Given the description of an element on the screen output the (x, y) to click on. 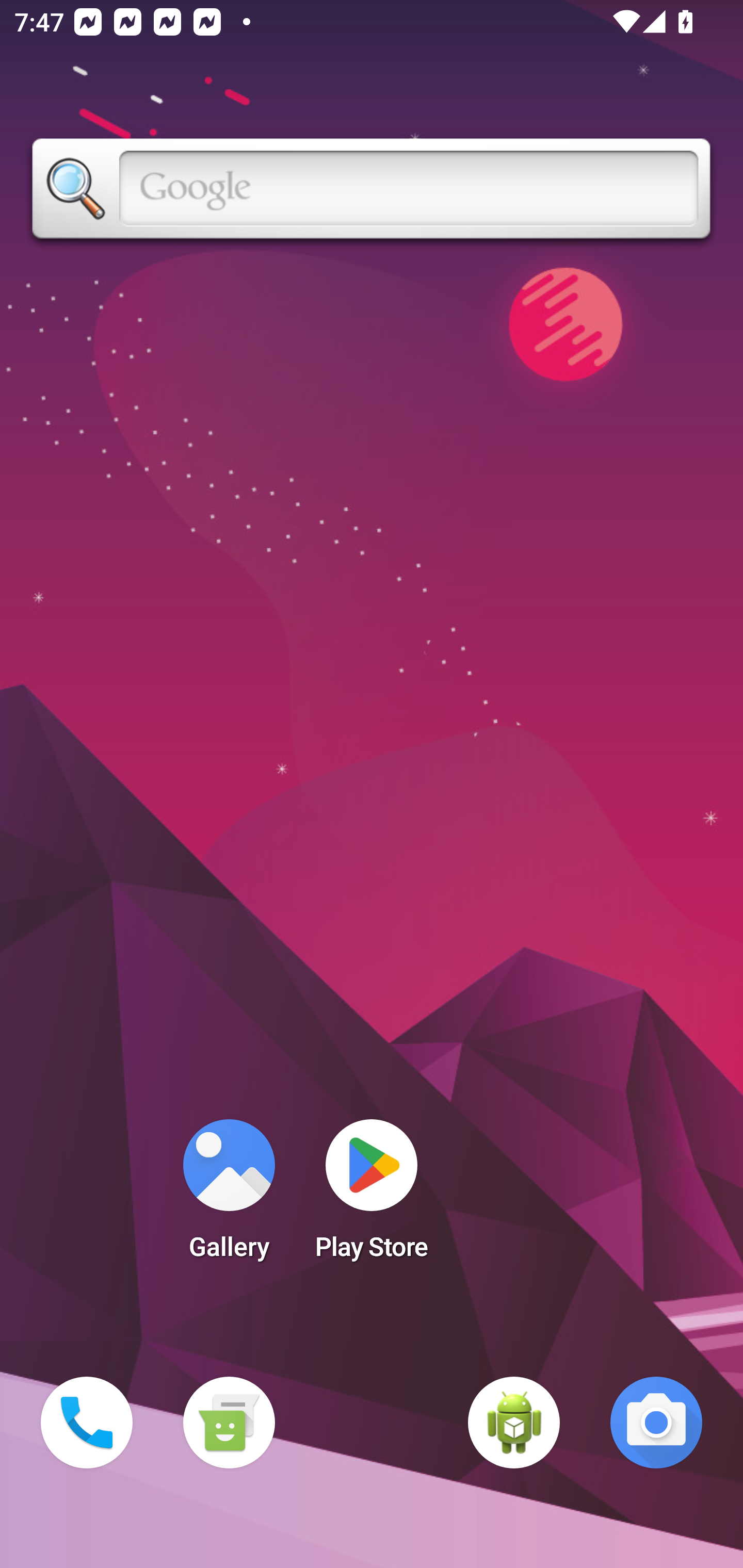
Gallery (228, 1195)
Play Store (371, 1195)
Phone (86, 1422)
Messaging (228, 1422)
WebView Browser Tester (513, 1422)
Camera (656, 1422)
